Given the description of an element on the screen output the (x, y) to click on. 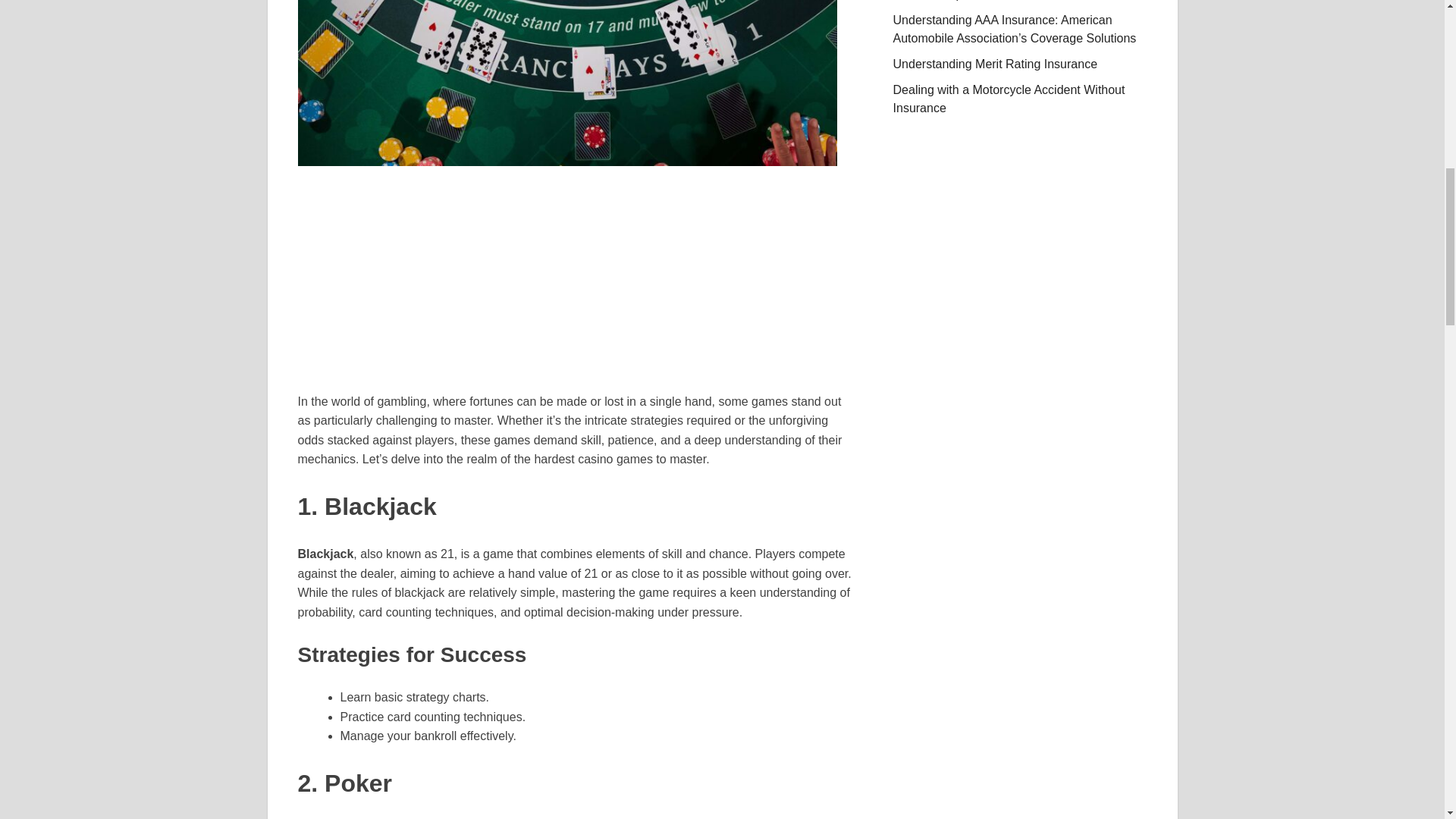
Understanding Merit Rating Insurance (995, 63)
Dealing with a Motorcycle Accident Without Insurance (1009, 98)
